Given the description of an element on the screen output the (x, y) to click on. 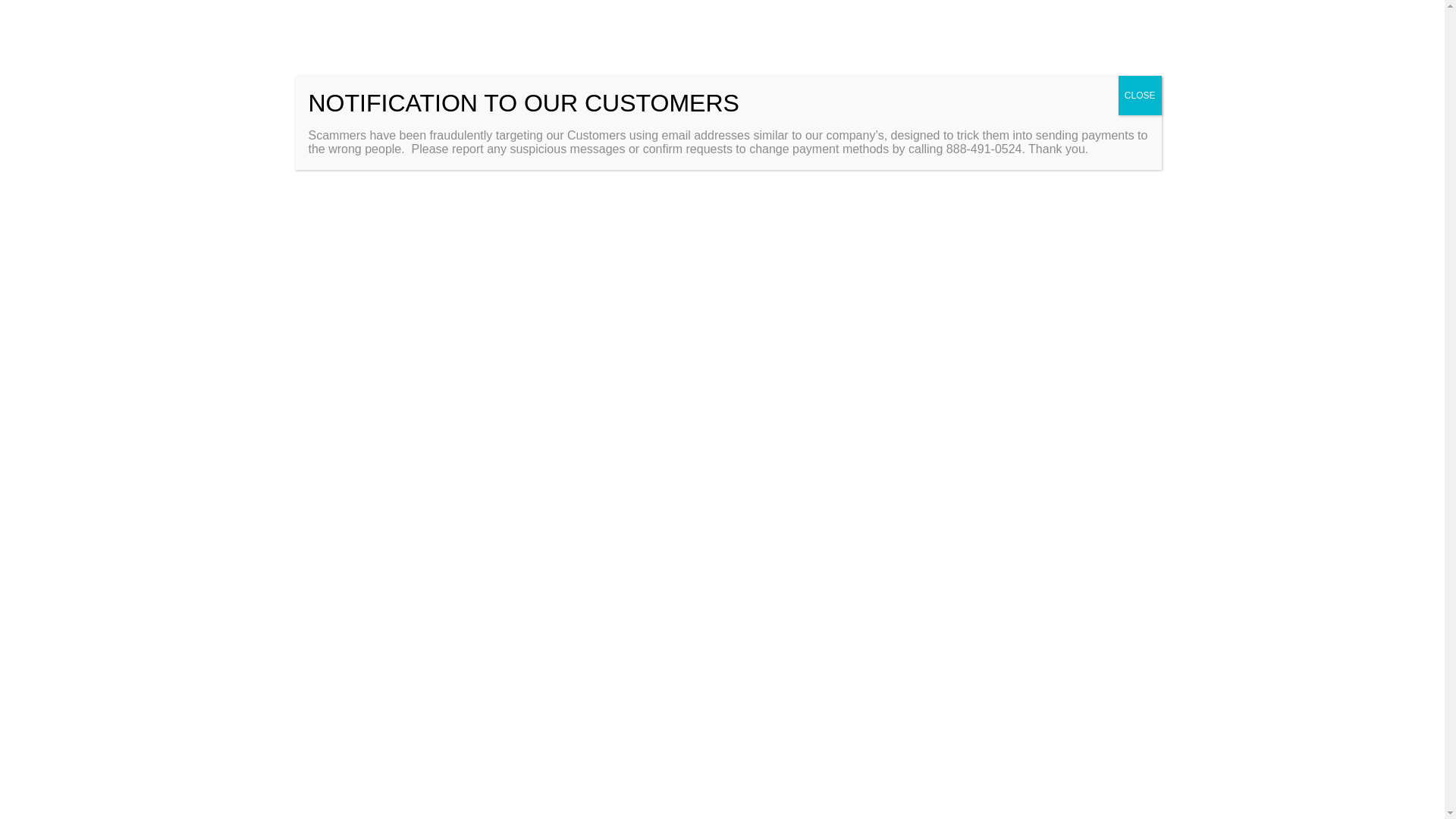
Atlantic Natural Foods (539, 558)
ACCEPT (1248, 751)
Modern Menu (533, 581)
Opt-out preferences (1216, 788)
Privacy Policy (1293, 788)
